Given the description of an element on the screen output the (x, y) to click on. 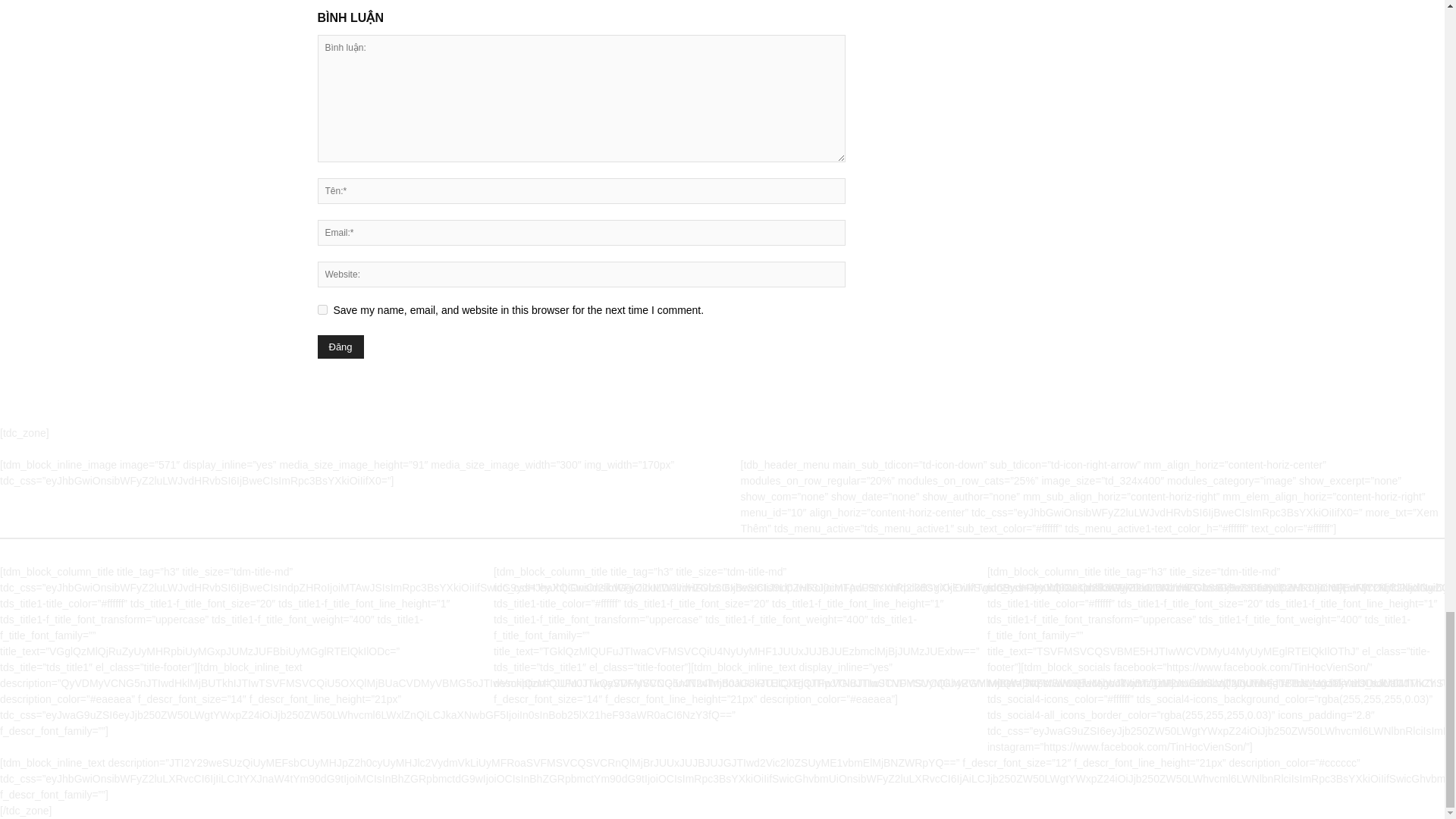
yes (321, 309)
